Given the description of an element on the screen output the (x, y) to click on. 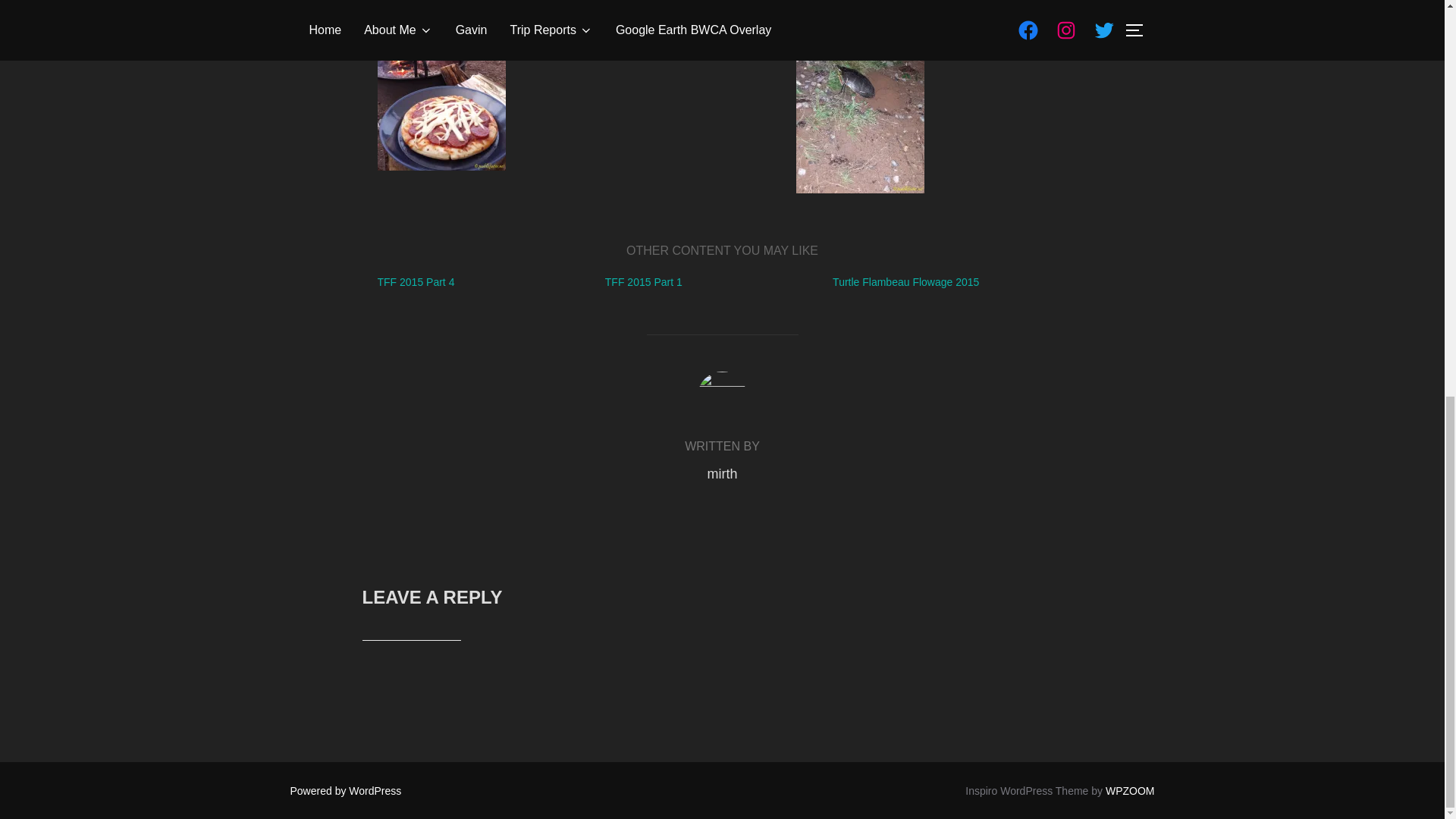
TFF 2015 Part 4 (415, 282)
Posts by mirth (721, 473)
TFF 2015 Part 1 (643, 282)
Turtle Flambeau Flowage 2015 (905, 282)
